Given the description of an element on the screen output the (x, y) to click on. 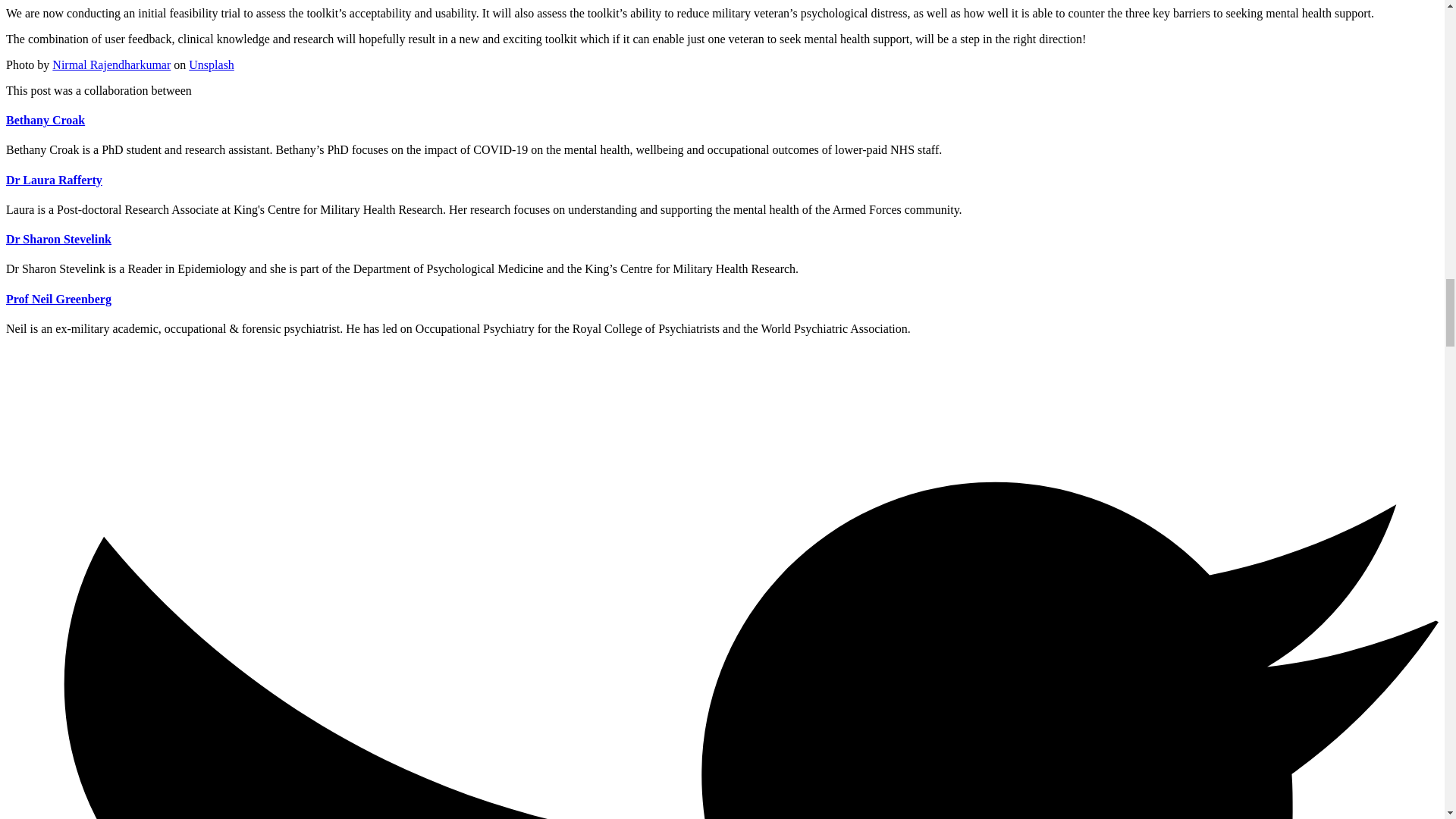
Nirmal Rajendharkumar (111, 64)
Dr Sharon Stevelink (58, 238)
Dr Laura Rafferty (53, 179)
Bethany Croak (44, 119)
Unsplash (211, 64)
Prof Neil Greenberg (58, 298)
